Given the description of an element on the screen output the (x, y) to click on. 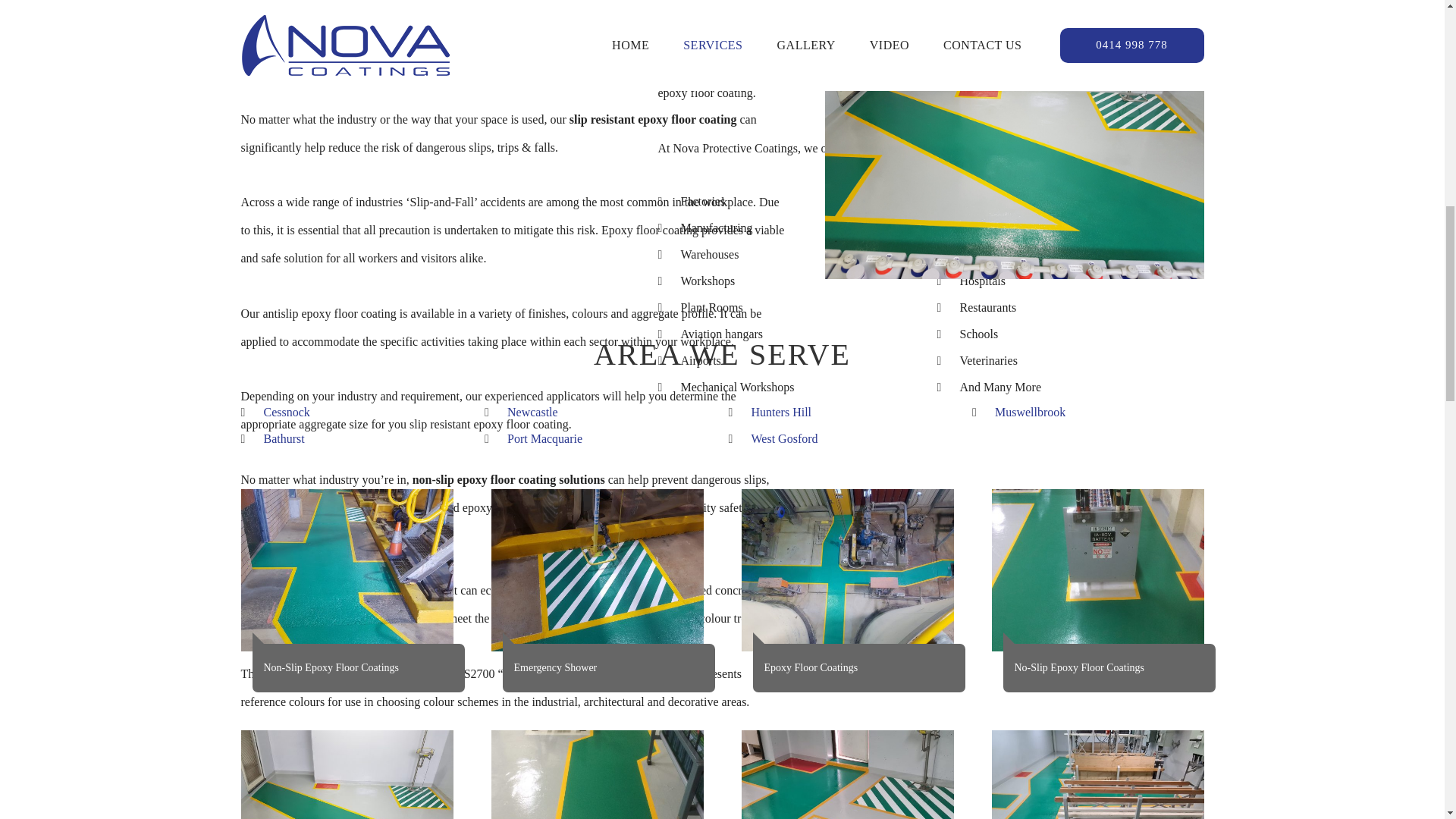
Non-Slip Epoxy Floor Coatings (346, 569)
Epoxy Floor Coatings (847, 569)
Bathurst (283, 438)
No-Slip Epoxy Floor Coatings (1097, 569)
Hunters Hill (780, 411)
Epoxy Floor Coating (346, 774)
Non-Slip Epoxy Floor Coatings (847, 774)
Muswellbrook (1029, 411)
Emergency Shower (597, 569)
Non-Slip Epoxy Floor Coatings (597, 774)
